Given the description of an element on the screen output the (x, y) to click on. 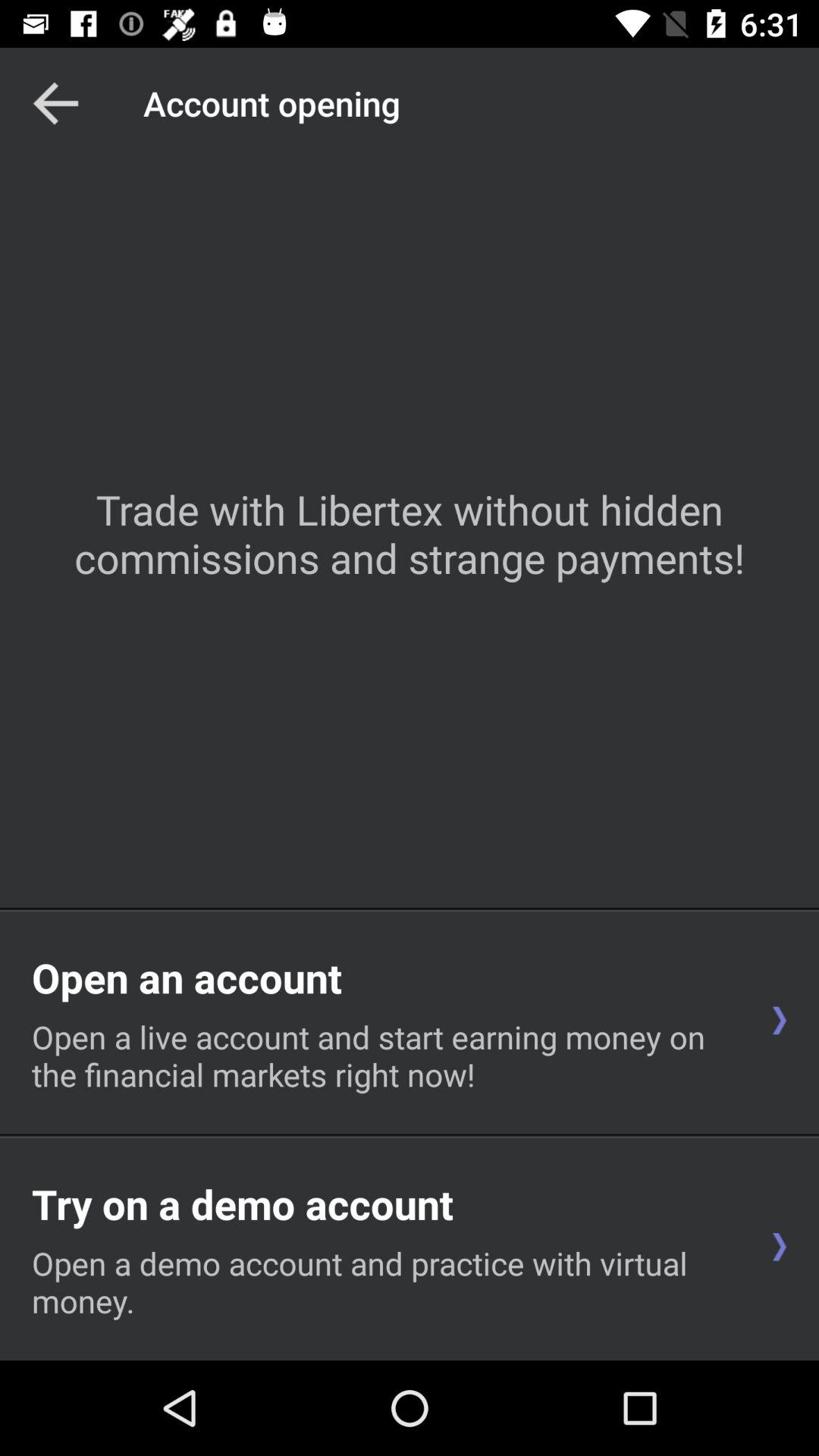
go back (55, 103)
